Given the description of an element on the screen output the (x, y) to click on. 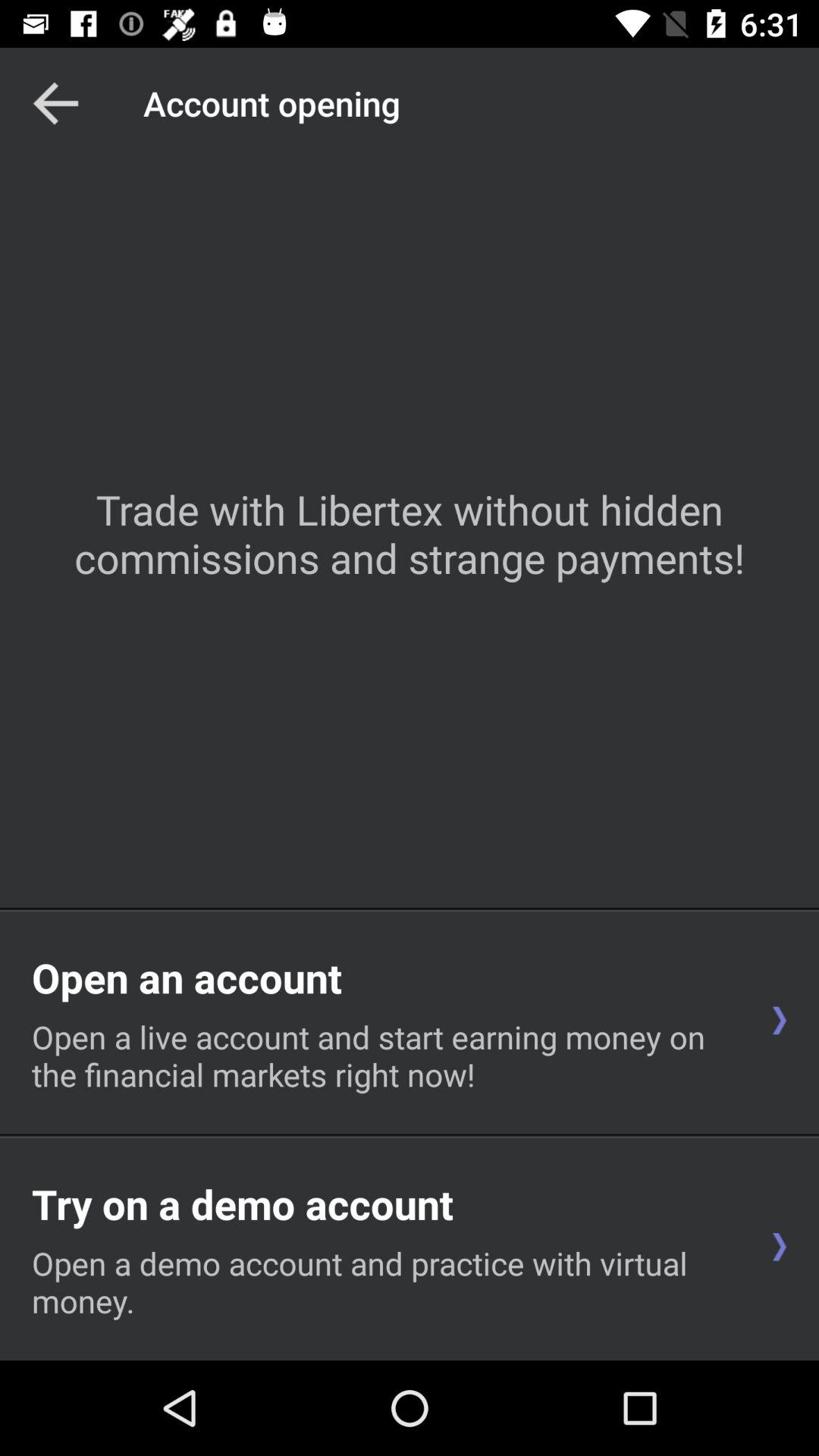
go back (55, 103)
